Given the description of an element on the screen output the (x, y) to click on. 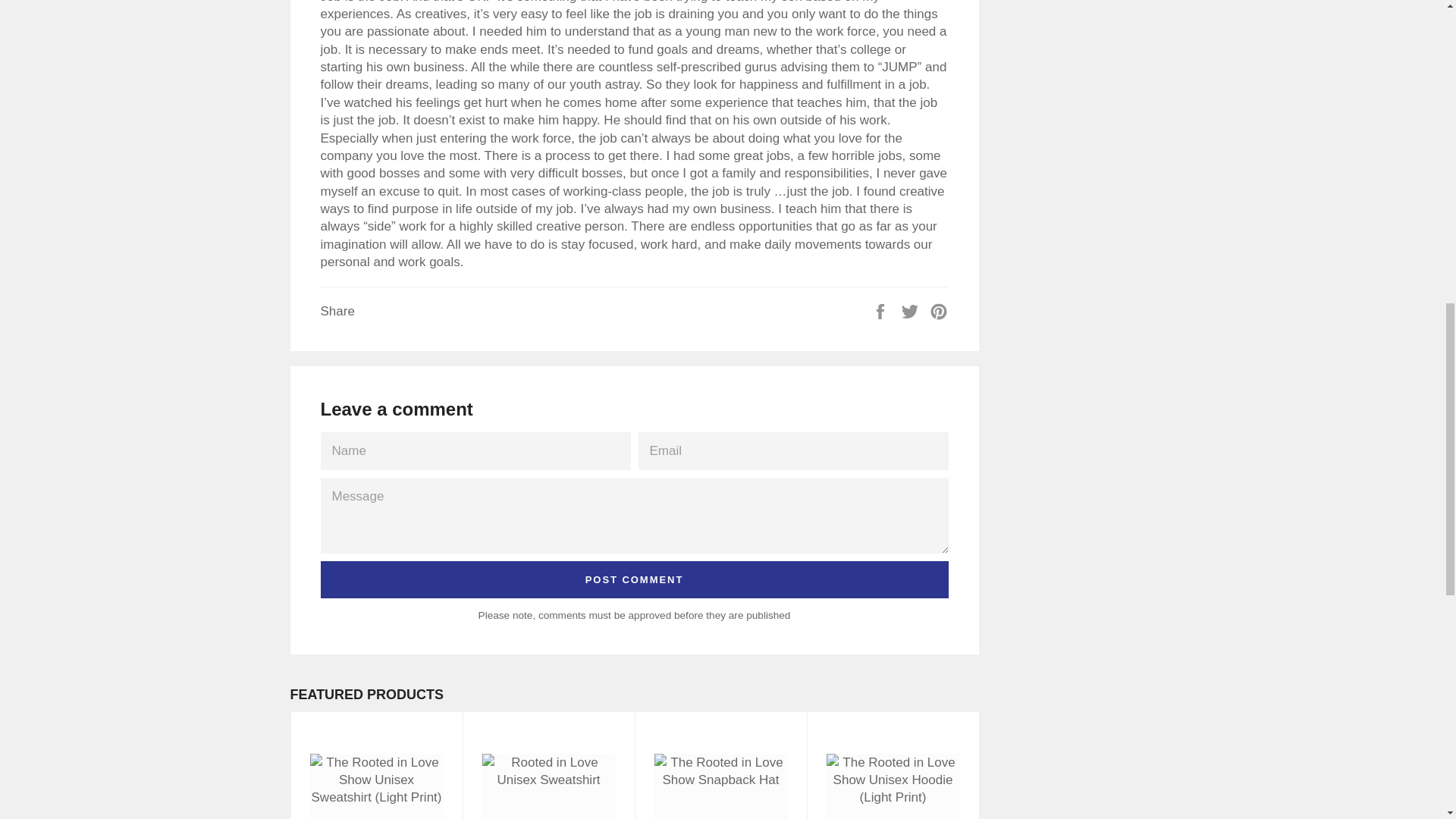
Pin on Pinterest (938, 310)
Post comment (633, 579)
Share on Facebook (881, 310)
Tweet on Twitter (912, 310)
